Given the description of an element on the screen output the (x, y) to click on. 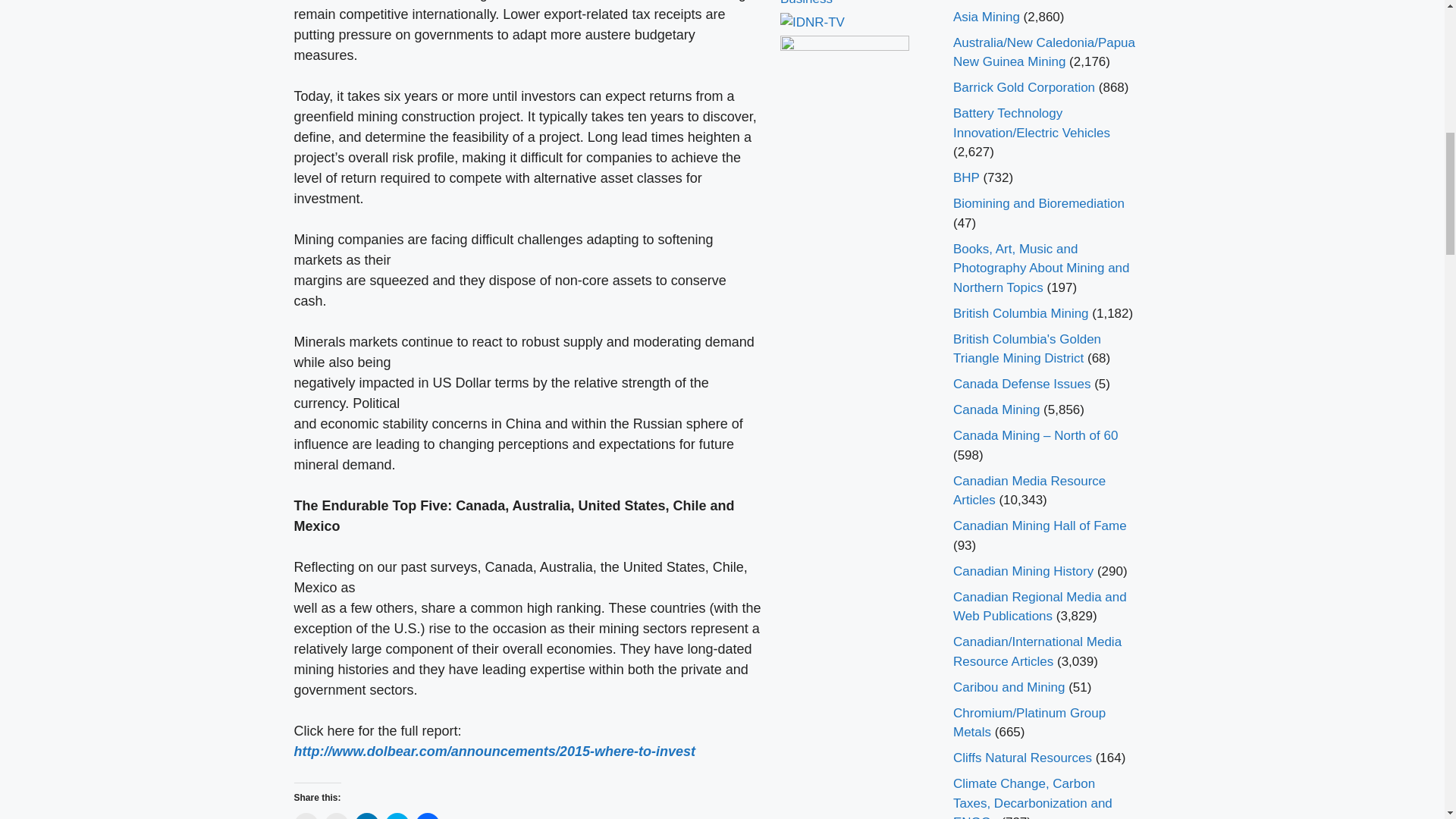
Click to share on Facebook (426, 816)
Click to email a link to a friend (306, 816)
Click to share on Twitter (397, 816)
Click to print (336, 816)
Click to share on LinkedIn (366, 816)
Scroll back to top (1406, 720)
